Given the description of an element on the screen output the (x, y) to click on. 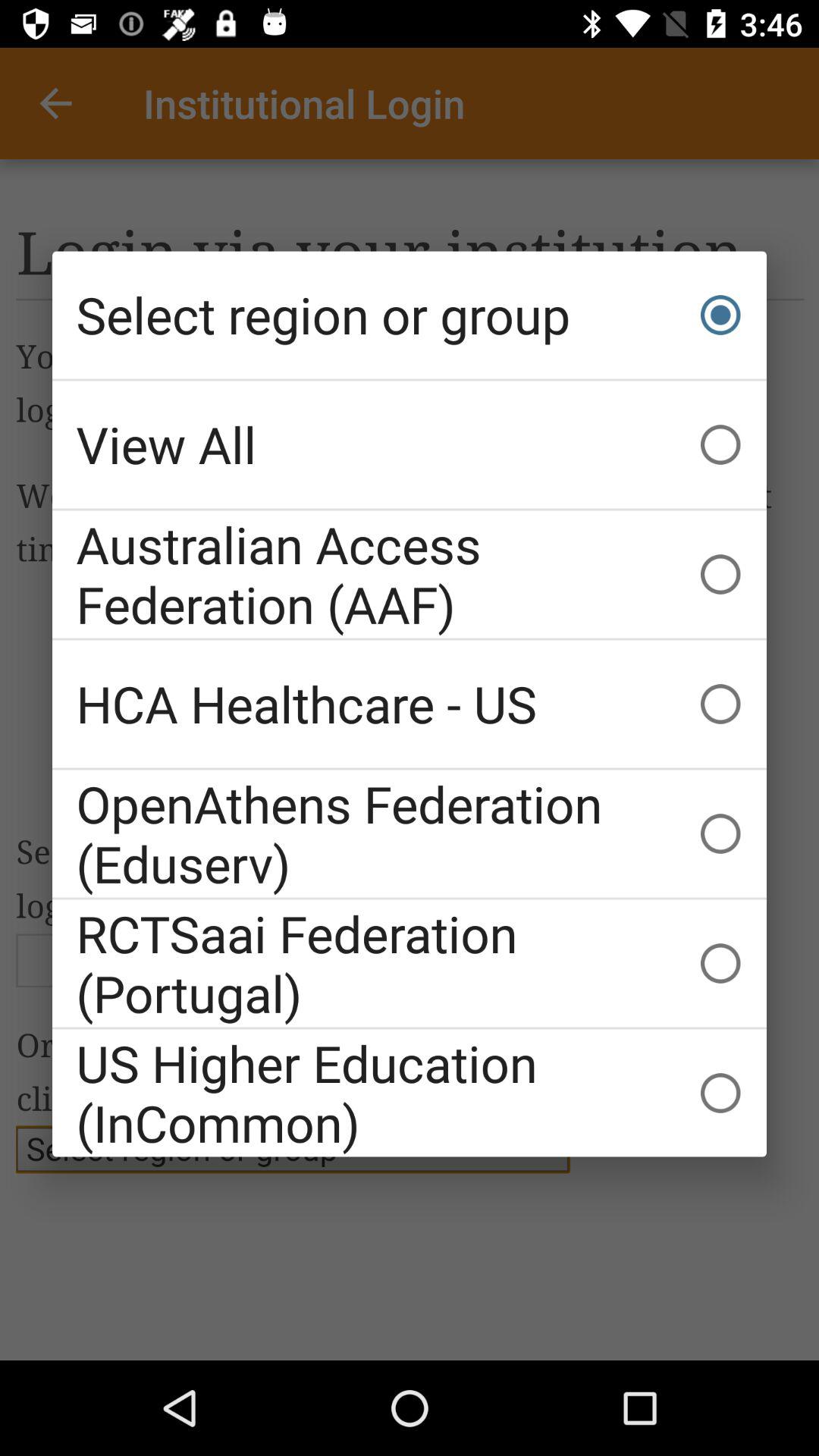
flip until the australian access federation (409, 574)
